Given the description of an element on the screen output the (x, y) to click on. 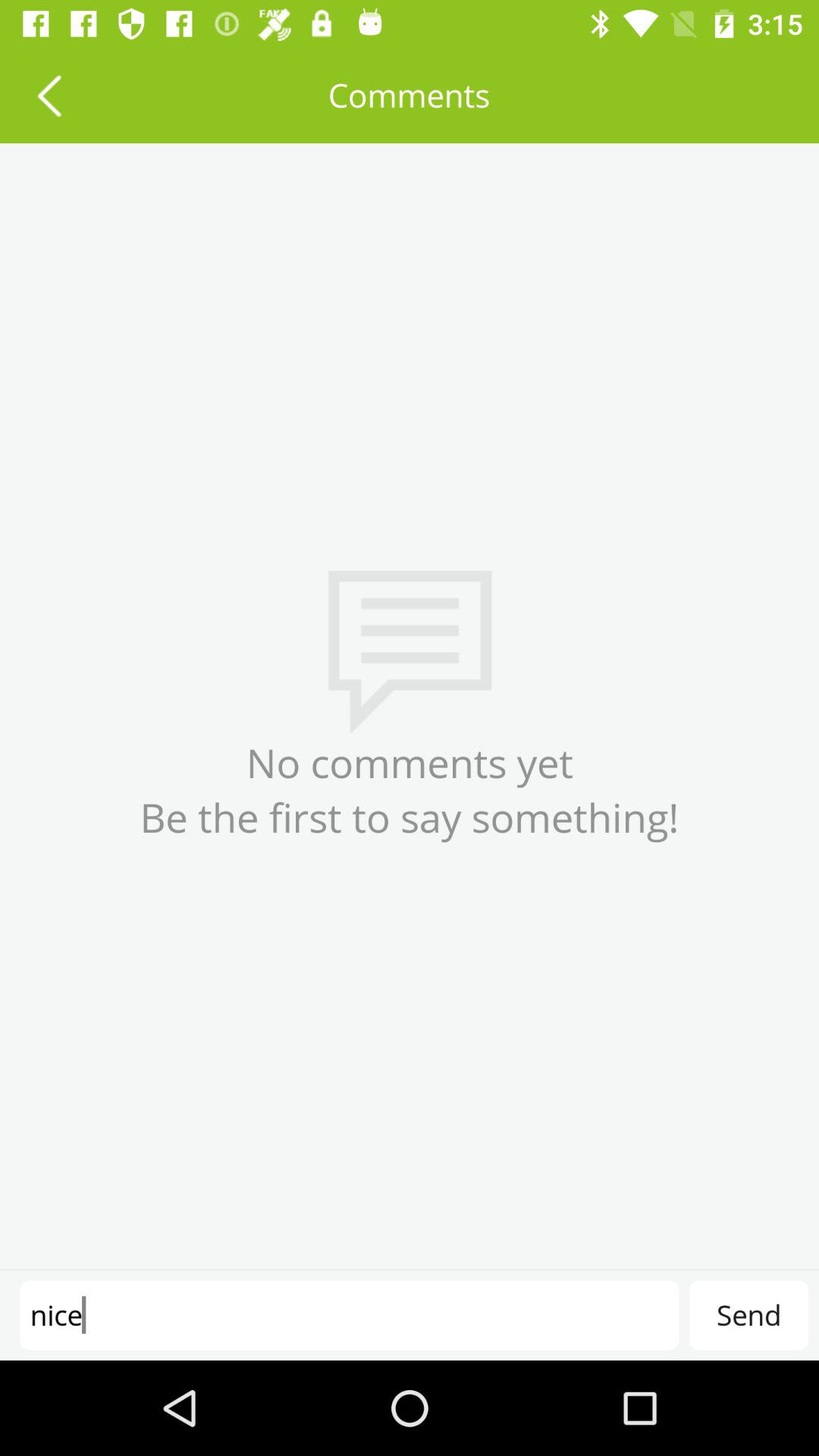
press icon at the top left corner (48, 95)
